Given the description of an element on the screen output the (x, y) to click on. 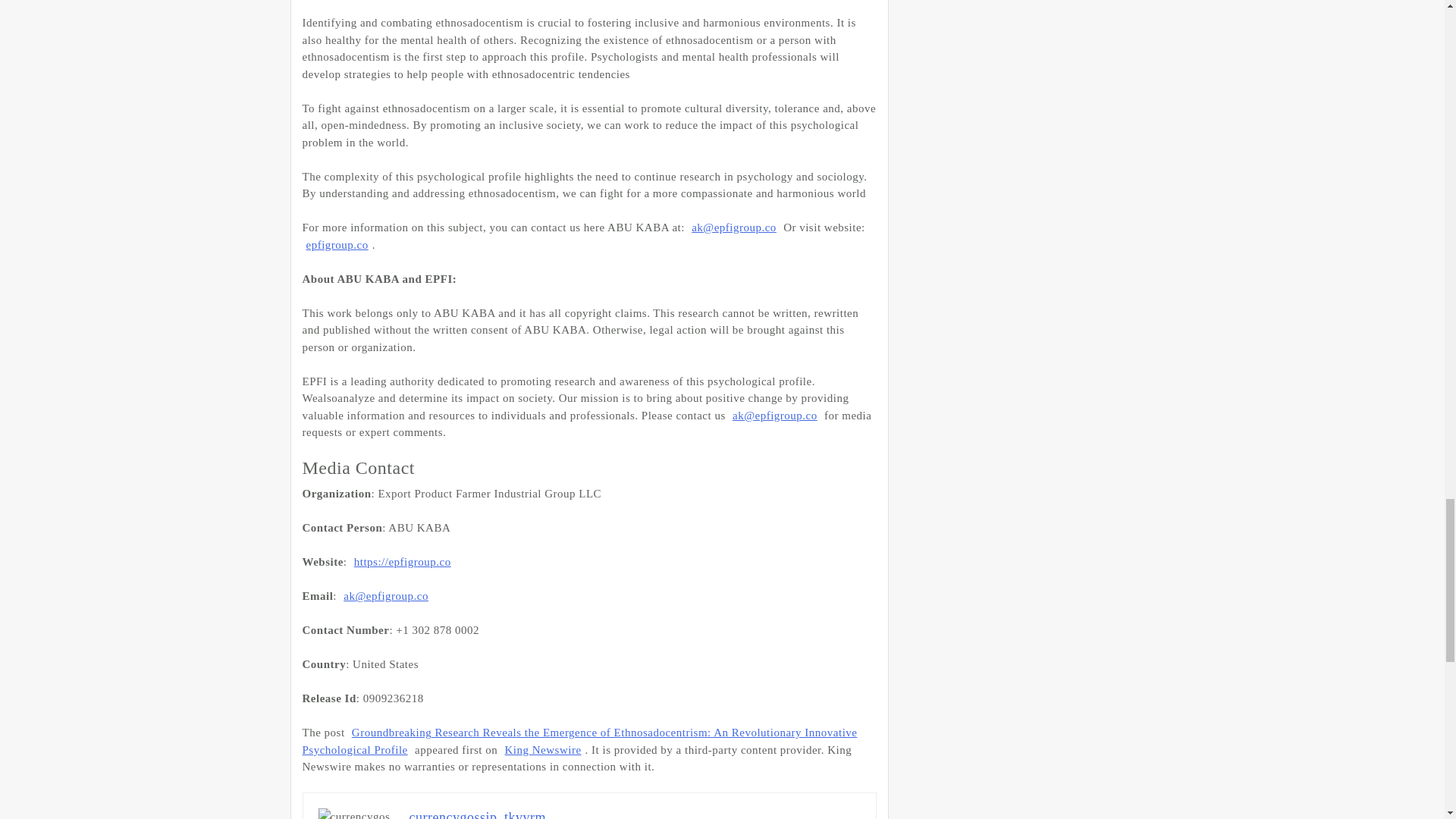
King Newswire (542, 750)
epfigroup.co (336, 244)
